Given the description of an element on the screen output the (x, y) to click on. 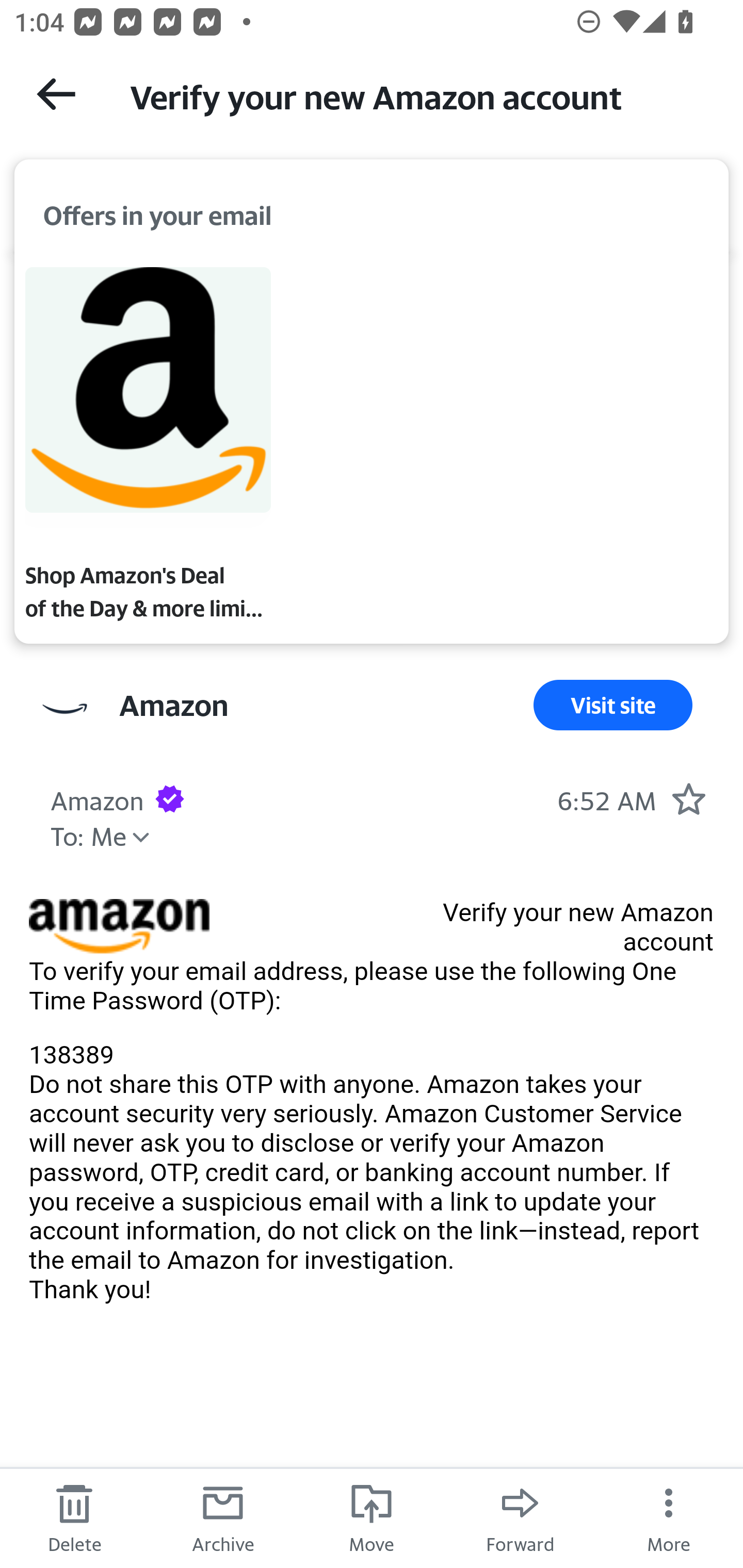
Back (55, 93)
Verify your new Amazon account (418, 94)
View all messages from sender (64, 708)
Visit site Visit Site Link (612, 705)
Amazon Sender Amazon (173, 705)
Amazon Sender Amazon (97, 798)
Mark as starred. (688, 798)
Delete (74, 1517)
Archive (222, 1517)
Move (371, 1517)
Forward (519, 1517)
More (668, 1517)
